Given the description of an element on the screen output the (x, y) to click on. 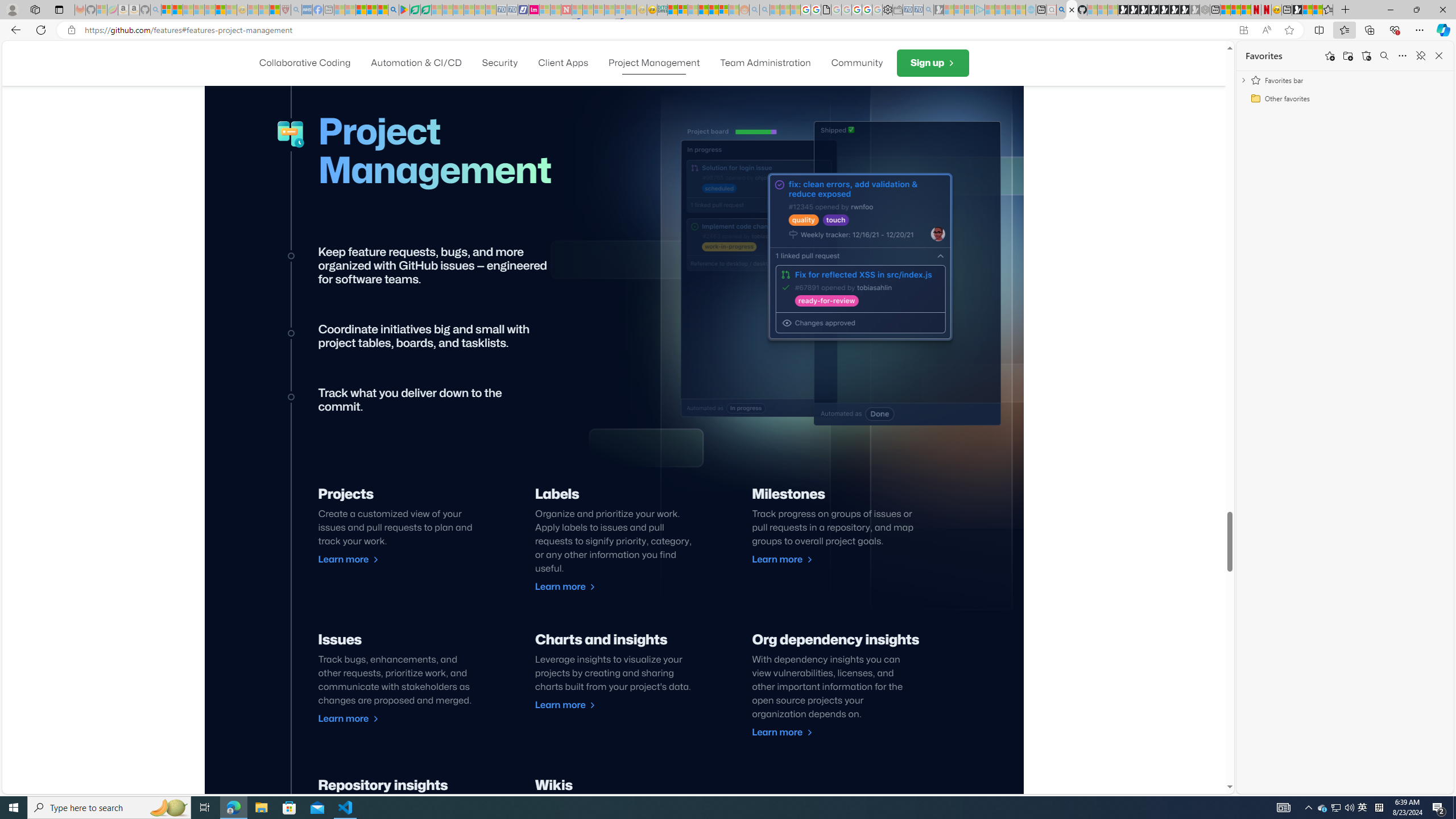
Play Cave FRVR in your browser | Games from Microsoft Start (1143, 9)
Workspaces (34, 9)
Restore (1416, 9)
Minimize (1390, 9)
Wildlife - MSN (1307, 9)
Microsoft Word - consumer-privacy address update 2.2021 (426, 9)
Class: octicon arrow-symbol-mktg (808, 732)
